Given the description of an element on the screen output the (x, y) to click on. 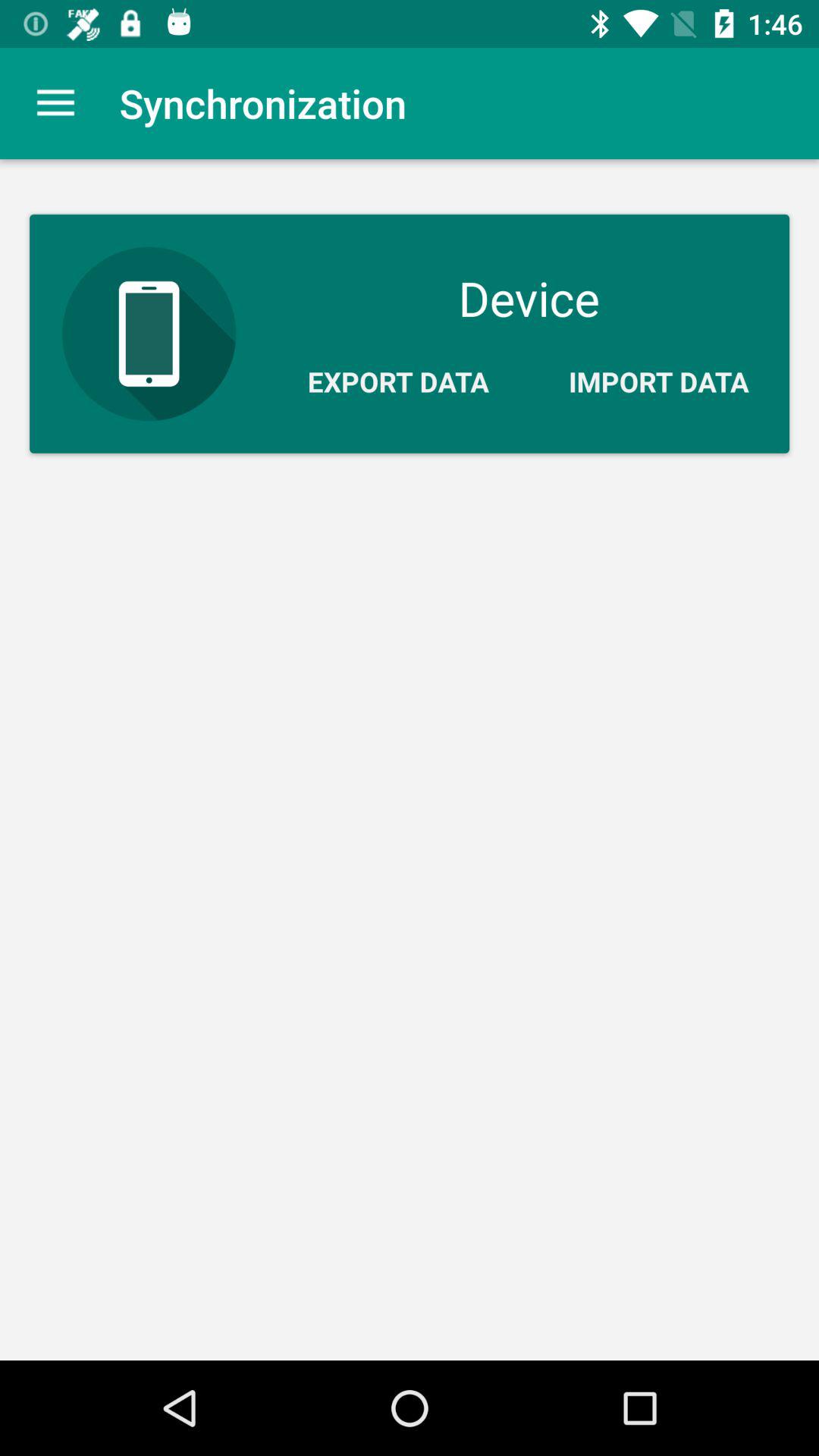
turn off item to the left of the synchronization item (55, 103)
